Given the description of an element on the screen output the (x, y) to click on. 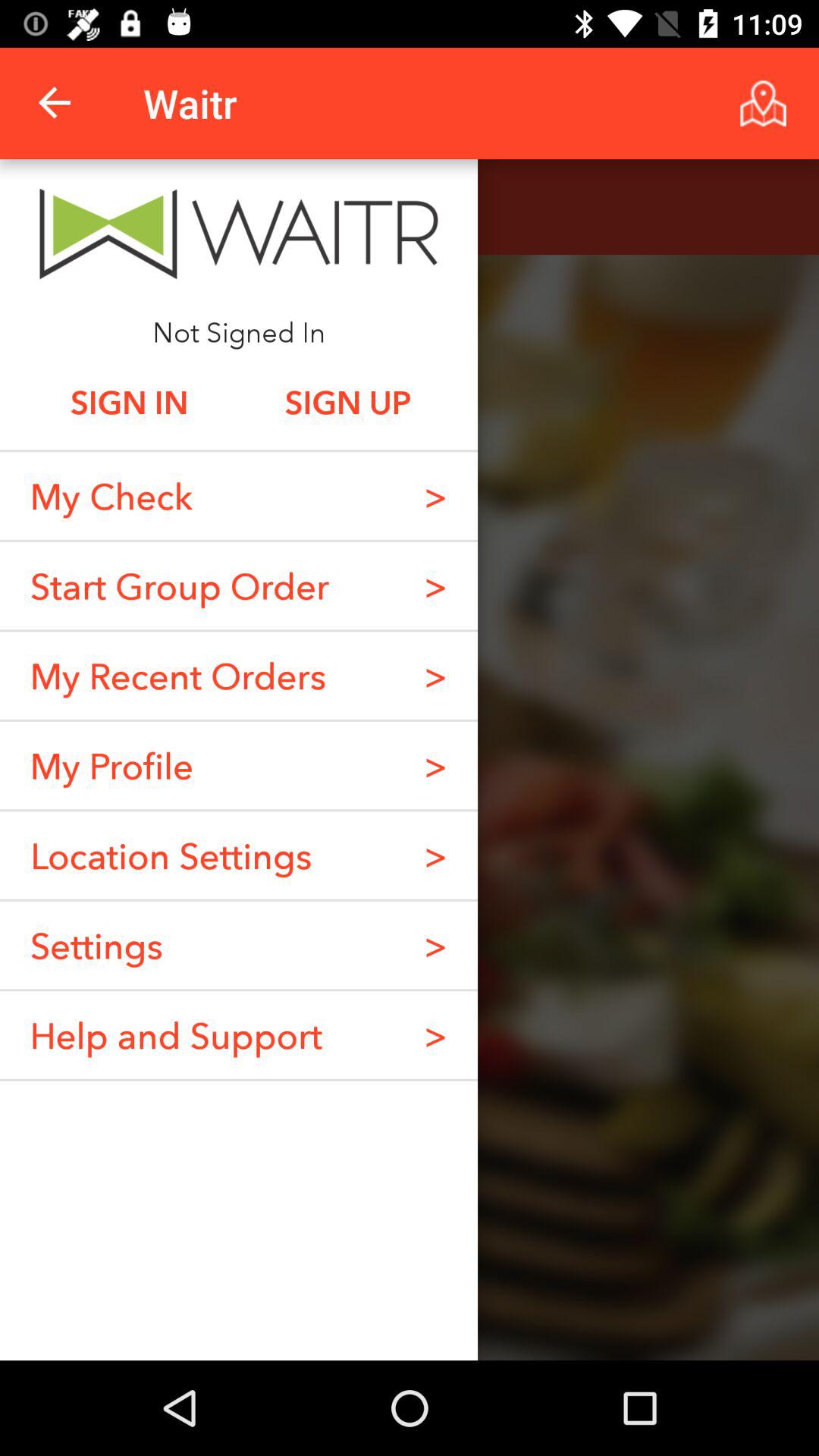
jump to not signed in (238, 331)
